Given the description of an element on the screen output the (x, y) to click on. 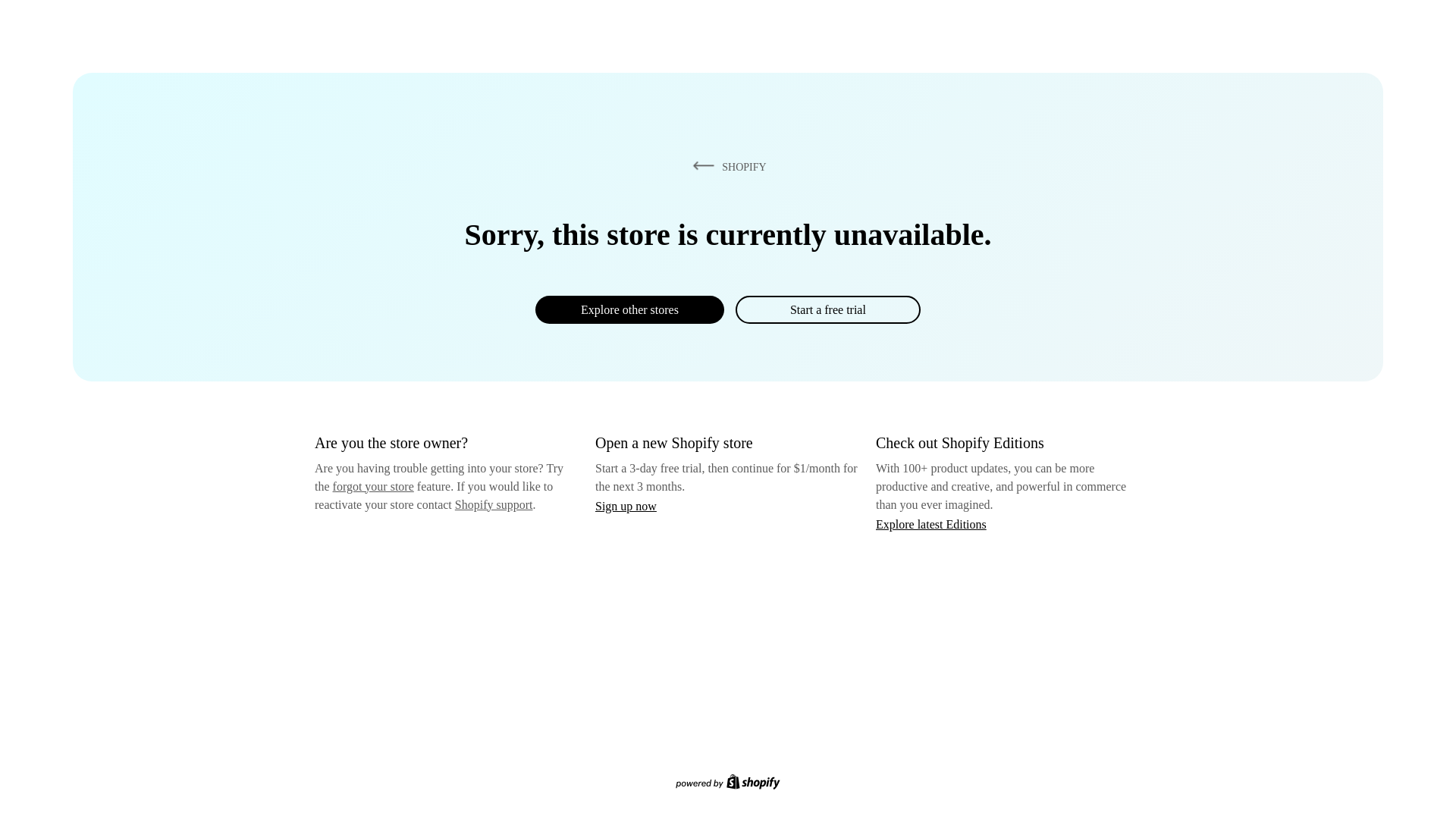
forgot your store (373, 486)
Sign up now (625, 505)
Shopify support (493, 504)
Explore other stores (629, 309)
Explore latest Editions (931, 523)
Start a free trial (827, 309)
SHOPIFY (726, 166)
